Given the description of an element on the screen output the (x, y) to click on. 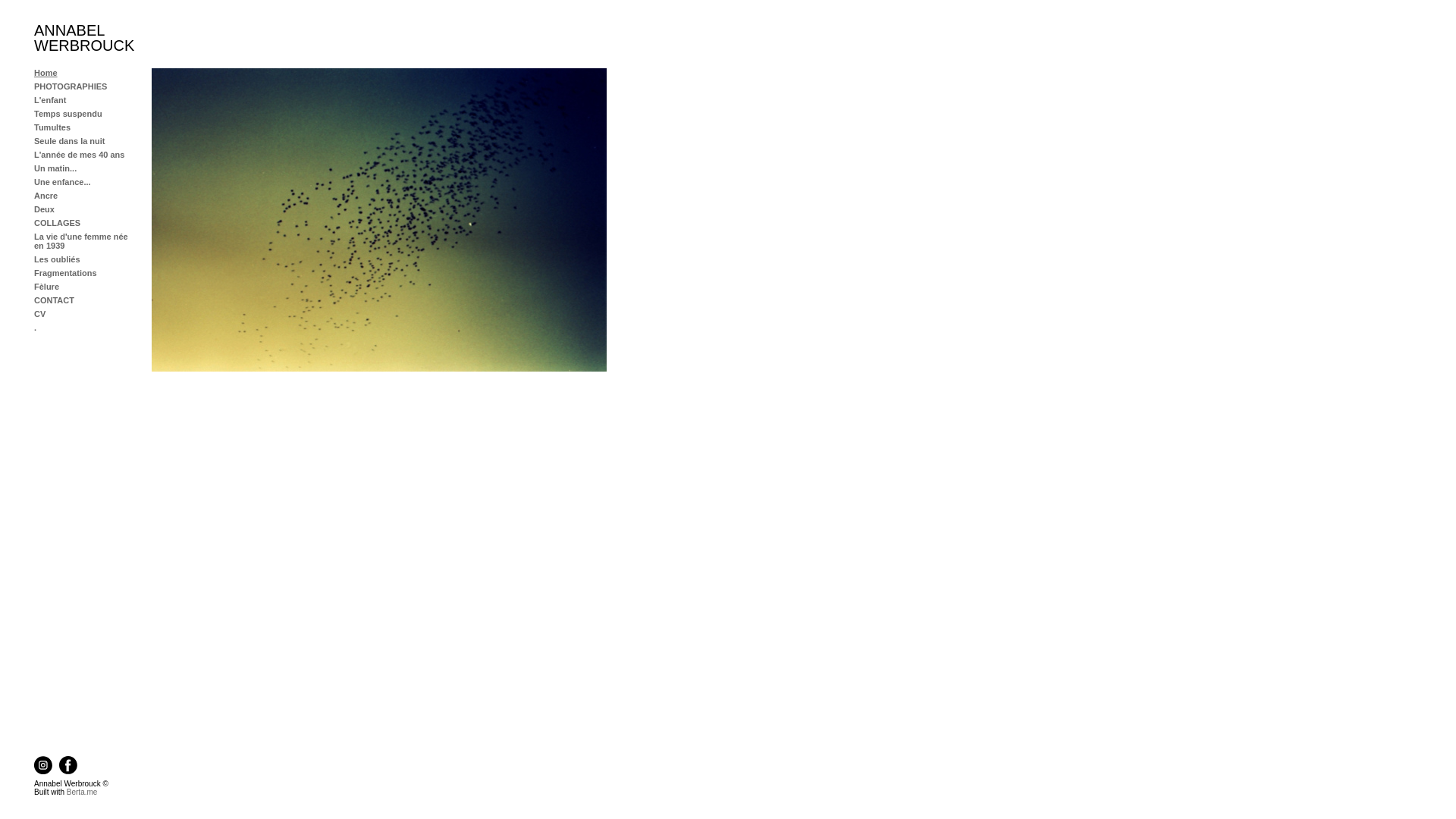
Deux Element type: text (44, 208)
CONTACT Element type: text (54, 299)
Temps suspendu Element type: text (68, 113)
Ancre Element type: text (45, 195)
Un matin... Element type: text (55, 167)
Fragmentations Element type: text (65, 272)
Berta.me Element type: text (81, 791)
Une enfance... Element type: text (62, 181)
Home Element type: text (45, 72)
CV Element type: text (39, 313)
L'enfant Element type: text (49, 99)
COLLAGES Element type: text (57, 222)
ANNABEL WERBROUCK Element type: text (84, 37)
. Element type: text (35, 327)
Tumultes Element type: text (52, 126)
PHOTOGRAPHIES Element type: text (70, 86)
Seule dans la nuit Element type: text (69, 140)
